Given the description of an element on the screen output the (x, y) to click on. 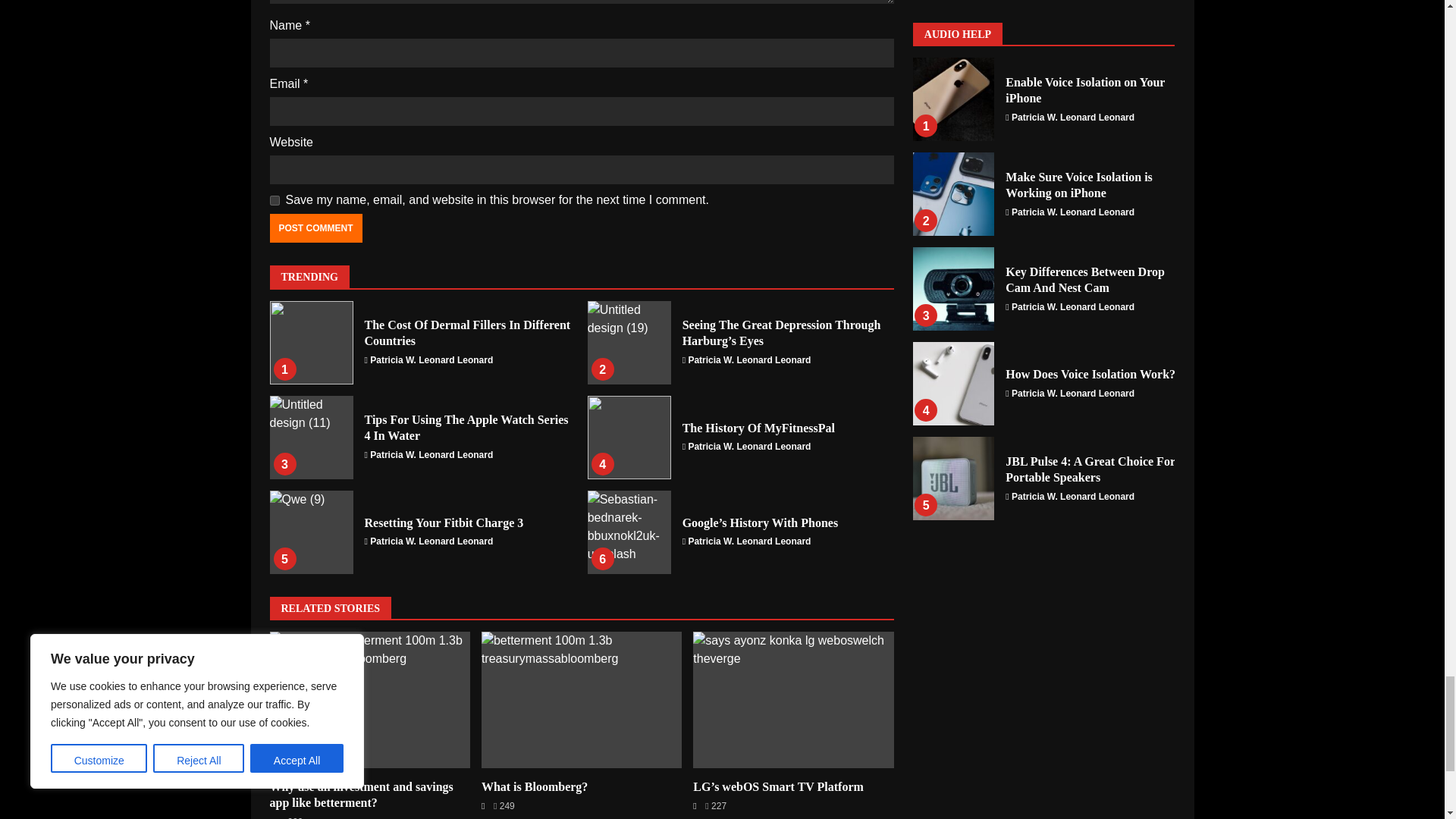
The Cost Of Dermal Fillers In Different Countries (467, 332)
yes (274, 200)
Post Comment (315, 227)
The Cost Of Dermal Fillers In Different Countries (311, 342)
Post Comment (315, 227)
Patricia W. Leonard Leonard (431, 359)
